Given the description of an element on the screen output the (x, y) to click on. 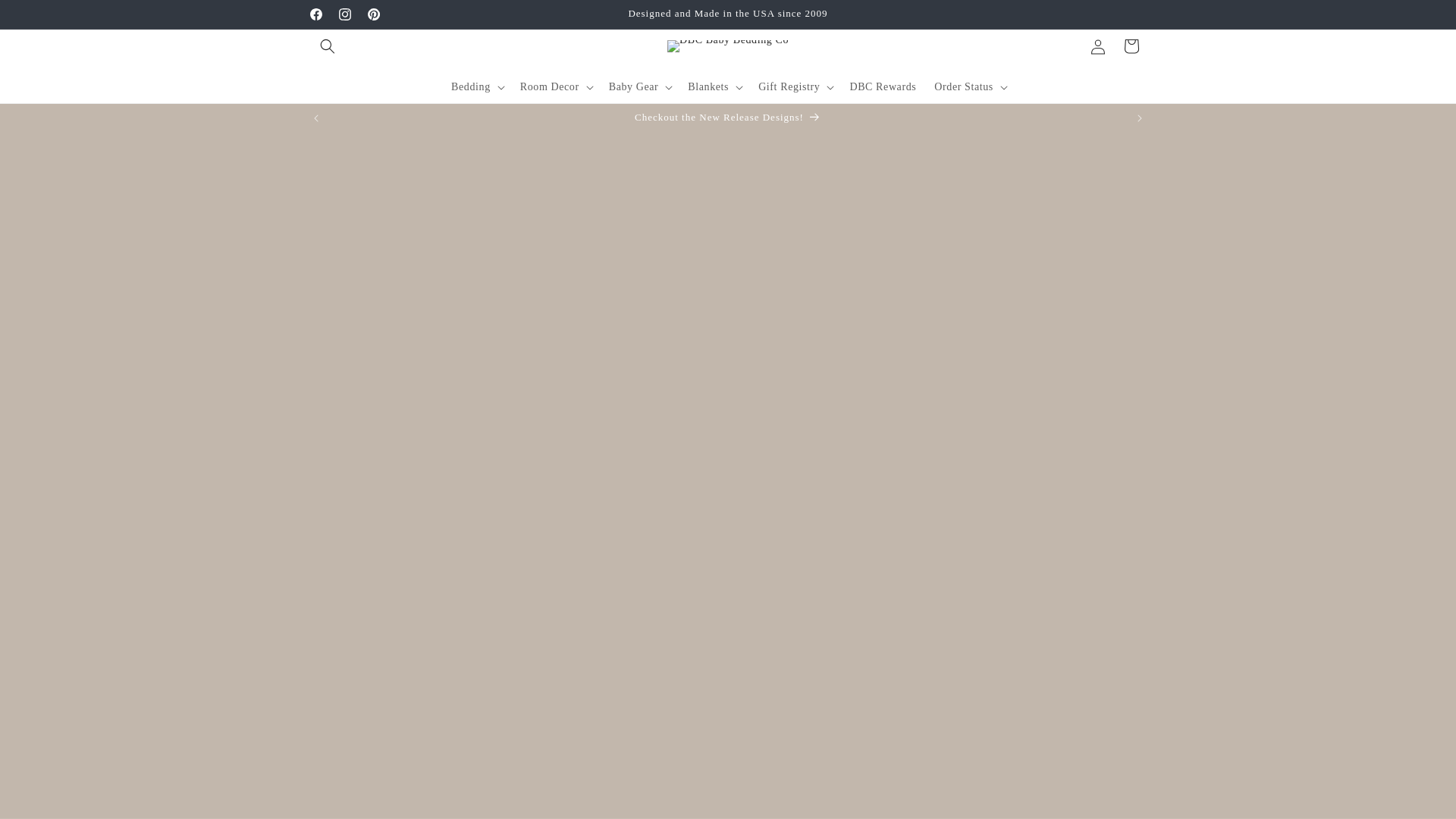
Instagram (344, 14)
Pinterest (373, 14)
Skip to content (45, 17)
Facebook (315, 14)
